Given the description of an element on the screen output the (x, y) to click on. 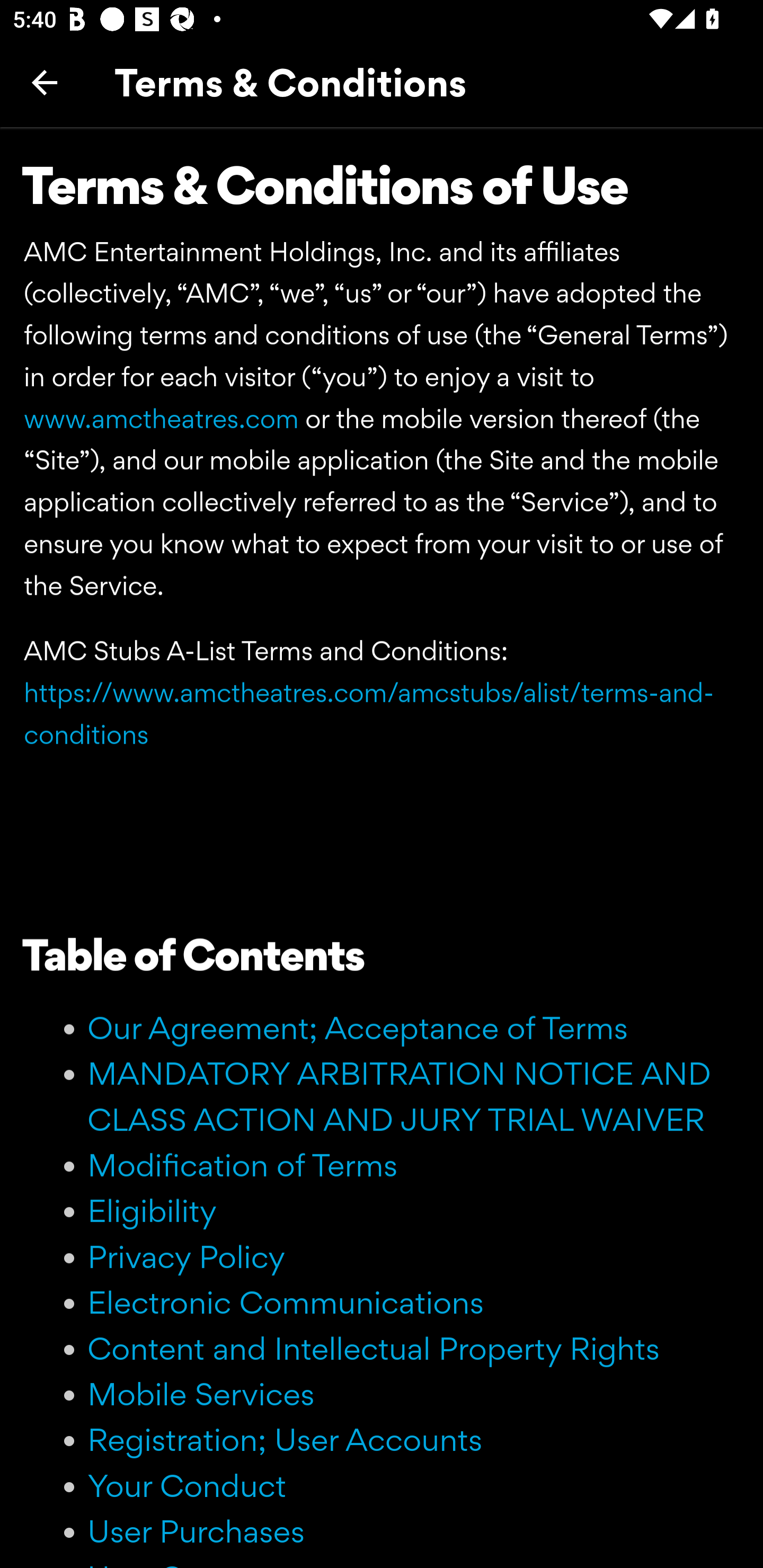
Back (44, 82)
www.amctheatres.com (161, 418)
Our Agreement; Acceptance of Terms (357, 1027)
Modification of Terms (243, 1164)
Eligibility (152, 1210)
Privacy Policy (186, 1256)
Electronic Communications (285, 1301)
Content and Intellectual Property Rights (373, 1348)
Mobile Services (200, 1393)
Registration; User Accounts (284, 1439)
Your Conduct (187, 1484)
User Purchases (196, 1530)
